Given the description of an element on the screen output the (x, y) to click on. 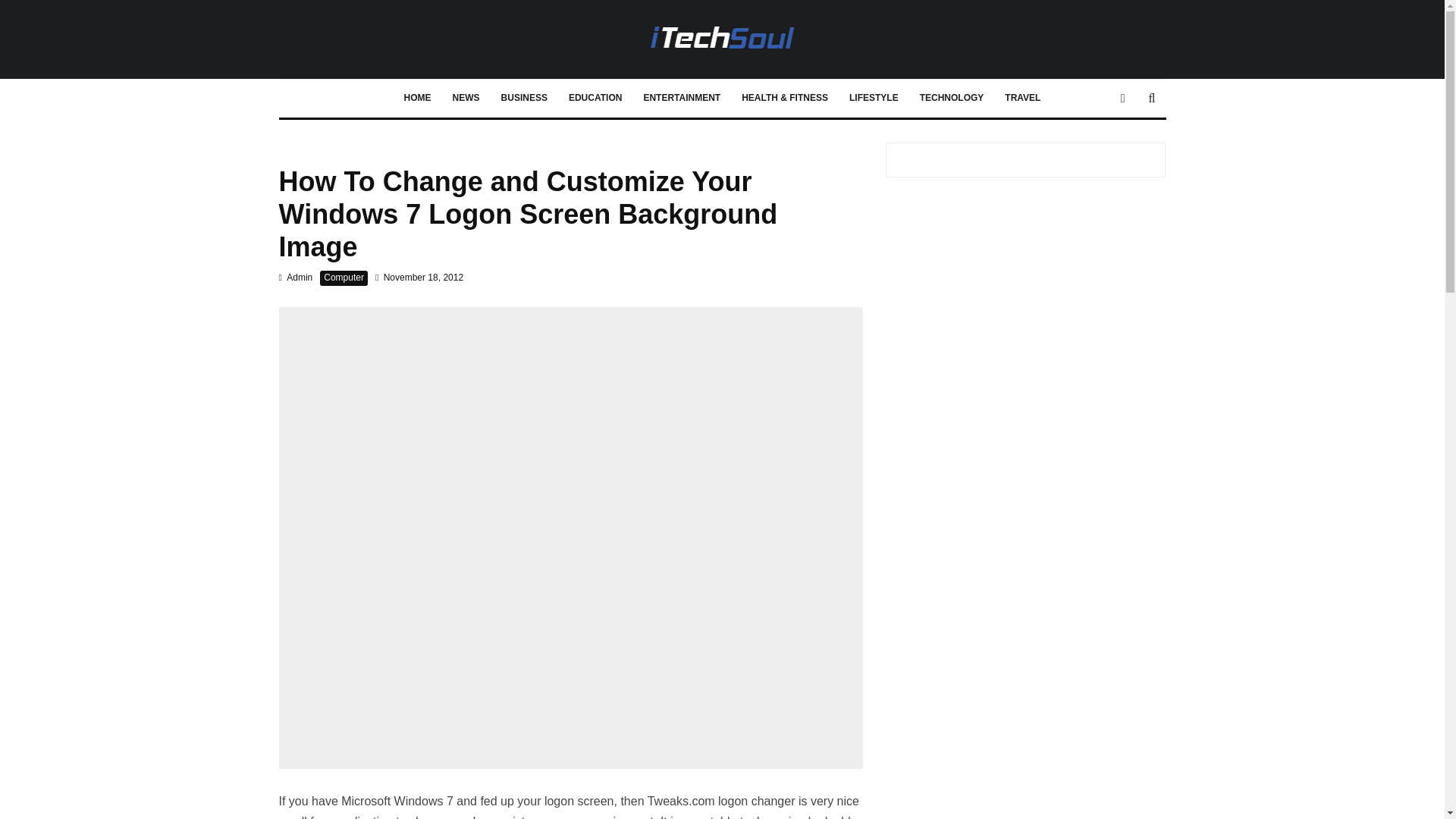
NEWS (466, 98)
ENTERTAINMENT (680, 98)
EDUCATION (594, 98)
HOME (417, 98)
BUSINESS (523, 98)
